Given the description of an element on the screen output the (x, y) to click on. 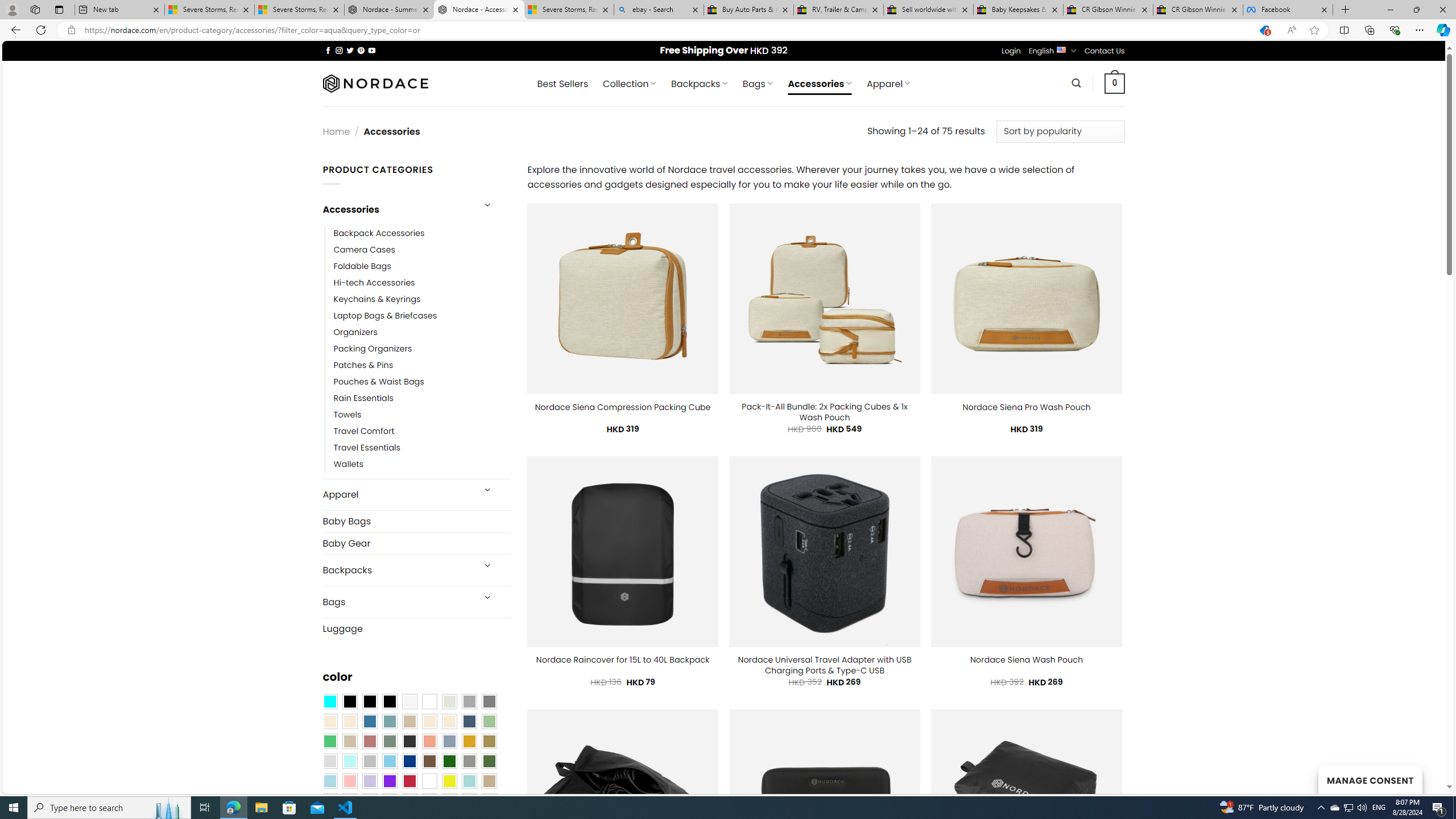
Laptop Bags & Briefcases (422, 316)
Baby Gear (416, 543)
Charcoal (408, 741)
 Best Sellers (562, 83)
Red (408, 780)
Purple (389, 780)
Pouches & Waist Bags (422, 381)
Blue (369, 721)
Gold (468, 741)
